Given the description of an element on the screen output the (x, y) to click on. 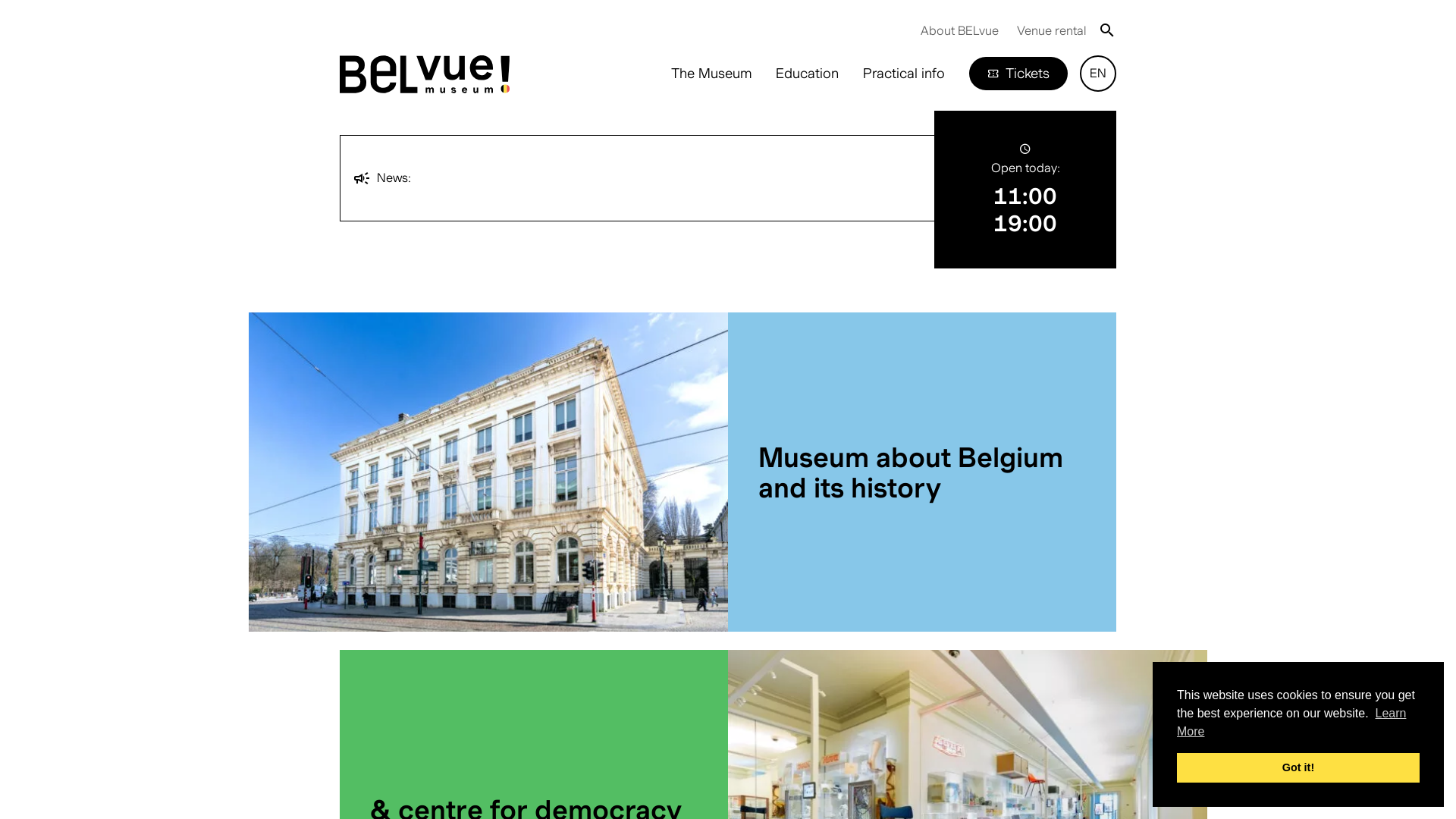
Learn More Element type: text (1290, 721)
The Museum Element type: text (711, 73)
Tickets Element type: text (1018, 73)
Museum about Belgium and its history Element type: text (922, 471)
Practical info Element type: text (903, 73)
Got it! Element type: text (1297, 767)
Venue rental Element type: text (1050, 30)
Happy visit : enjoy tickets at -50% from 5pm to 7pm ! Element type: text (573, 185)
Open today:
11:00
19:00 Element type: text (1025, 189)
Education Element type: text (806, 73)
About BELvue Element type: text (959, 30)
